Given the description of an element on the screen output the (x, y) to click on. 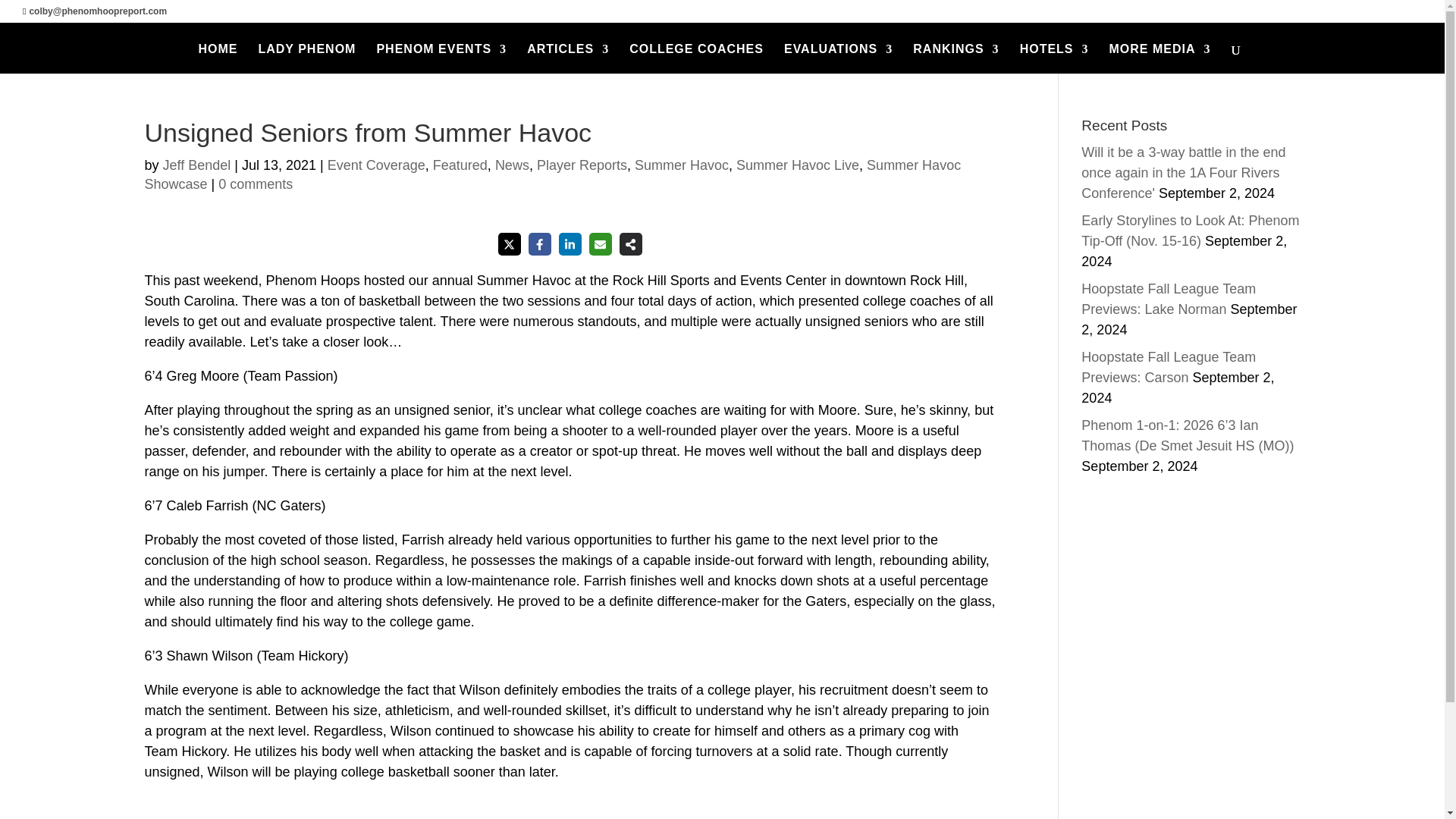
LADY PHENOM (306, 58)
ARTICLES (567, 58)
PHENOM EVENTS (440, 58)
COLLEGE COACHES (695, 58)
Posts by Jeff Bendel (197, 165)
RANKINGS (955, 58)
HOME (217, 58)
EVALUATIONS (838, 58)
